Given the description of an element on the screen output the (x, y) to click on. 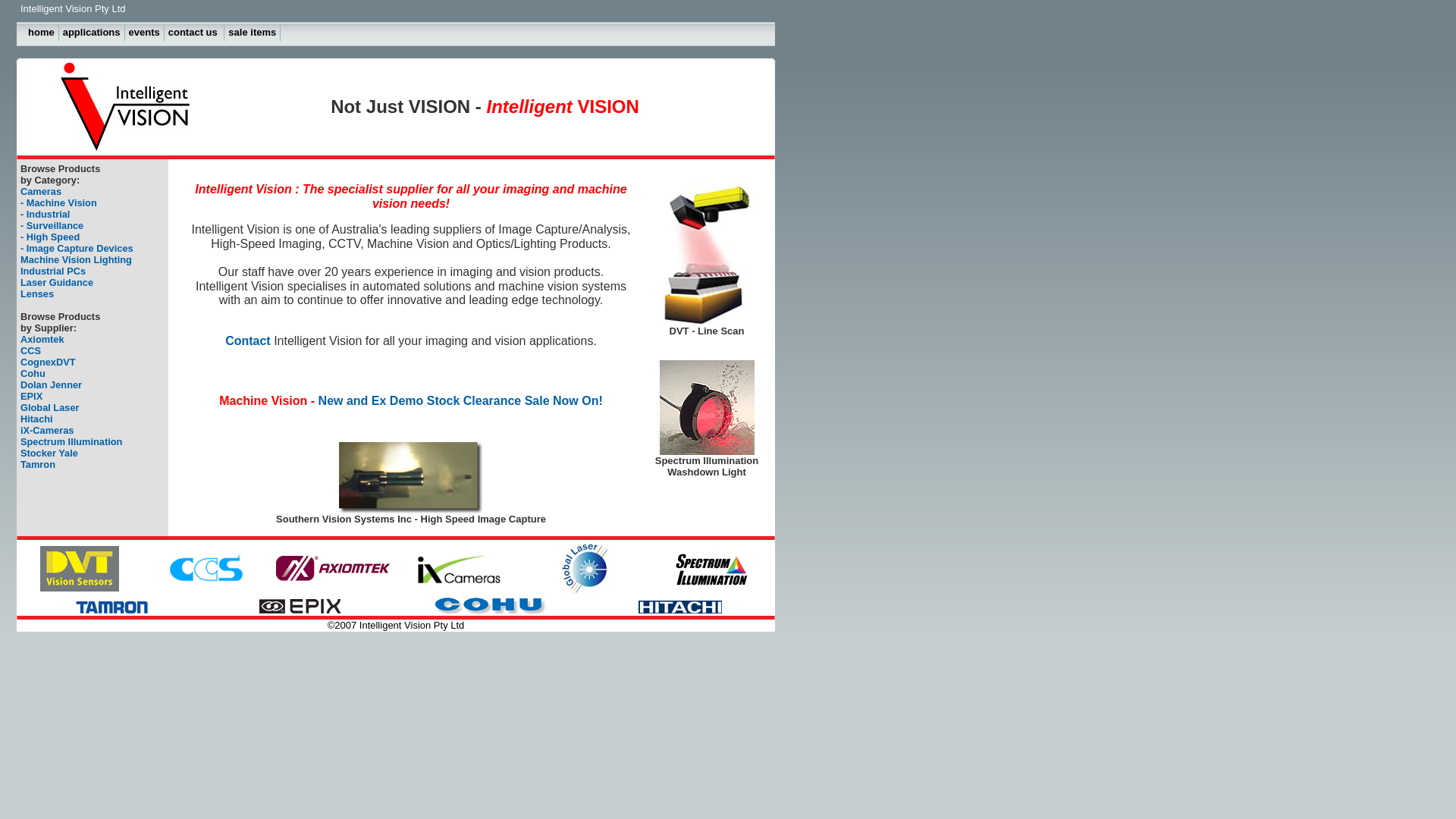
Stocker Yale Element type: text (49, 452)
- High Speed Element type: text (49, 236)
Laser Guidance Element type: text (56, 282)
- Image Capture Devices Element type: text (76, 248)
Machine Vision Lighting Element type: text (75, 259)
- Machine Vision Element type: text (58, 202)
Global Laser Element type: text (49, 407)
Lenses Element type: text (36, 293)
sale items Element type: text (252, 32)
CCS Element type: text (30, 350)
Spectrum Illumination Element type: text (71, 441)
events Element type: text (144, 32)
applications Element type: text (92, 32)
Axiomtek Element type: text (42, 339)
Dolan Jenner Element type: text (50, 384)
contact us Element type: text (194, 32)
Industrial PCs Element type: text (52, 270)
Tamron Element type: text (37, 464)
- Industrial Element type: text (44, 213)
Cohu Element type: text (32, 373)
Contact Element type: text (318, 347)
EPIX Element type: text (31, 395)
- Surveillance Element type: text (51, 225)
home Element type: text (41, 32)
CognexDVT Element type: text (47, 361)
Hitachi Element type: text (36, 418)
New and Ex Demo Stock Clearance Sale Now On! Element type: text (460, 400)
iX-Cameras Element type: text (46, 430)
